Given the description of an element on the screen output the (x, y) to click on. 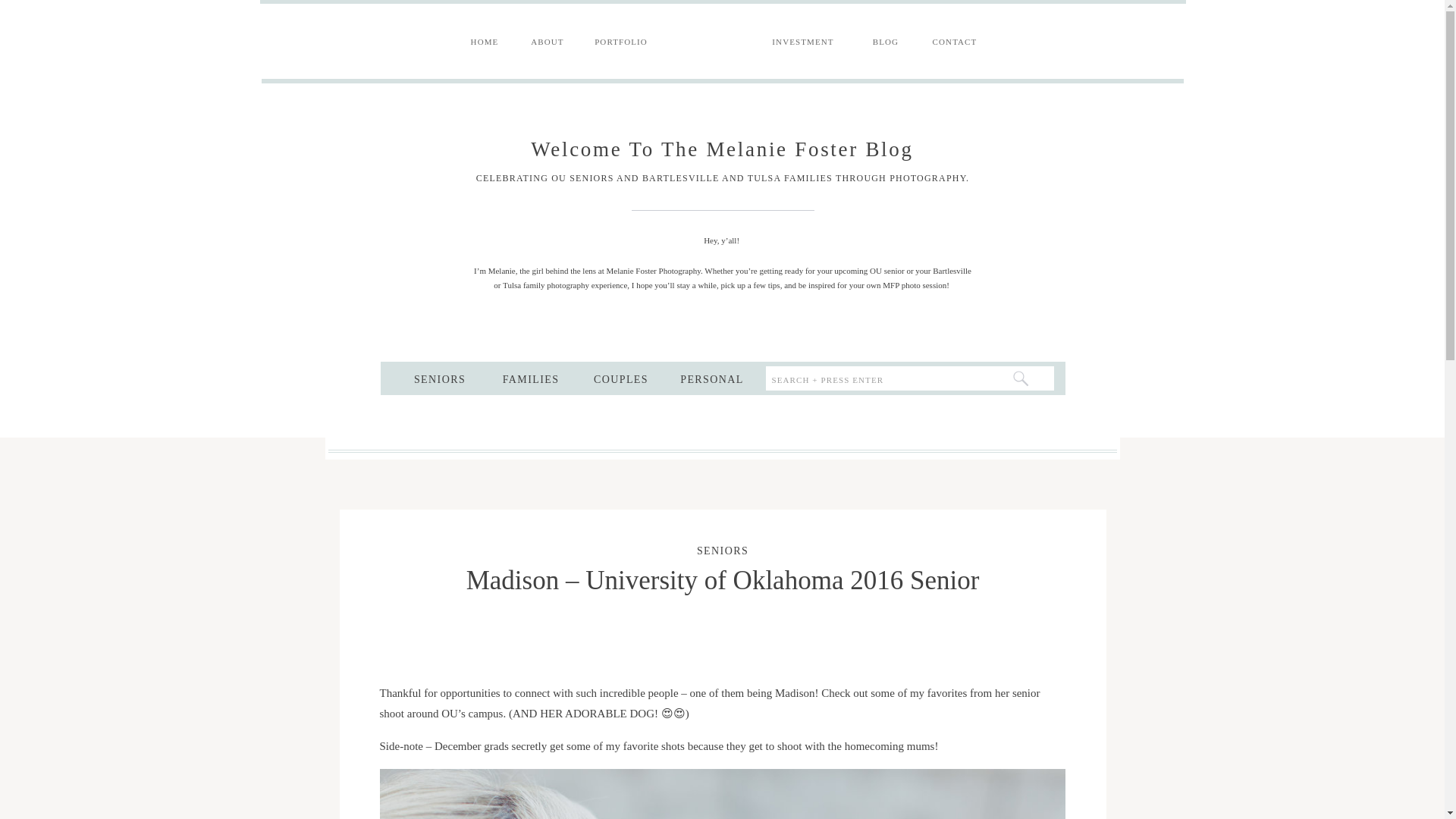
PORTFOLIO (620, 42)
ABOUT (546, 42)
INVESTMENT (803, 42)
PERSONAL (712, 378)
SENIORS (722, 550)
HOME (484, 42)
SENIORS (439, 378)
FAMILIES (530, 378)
BLOG (885, 42)
COUPLES (621, 378)
CONTACT (954, 42)
